Given the description of an element on the screen output the (x, y) to click on. 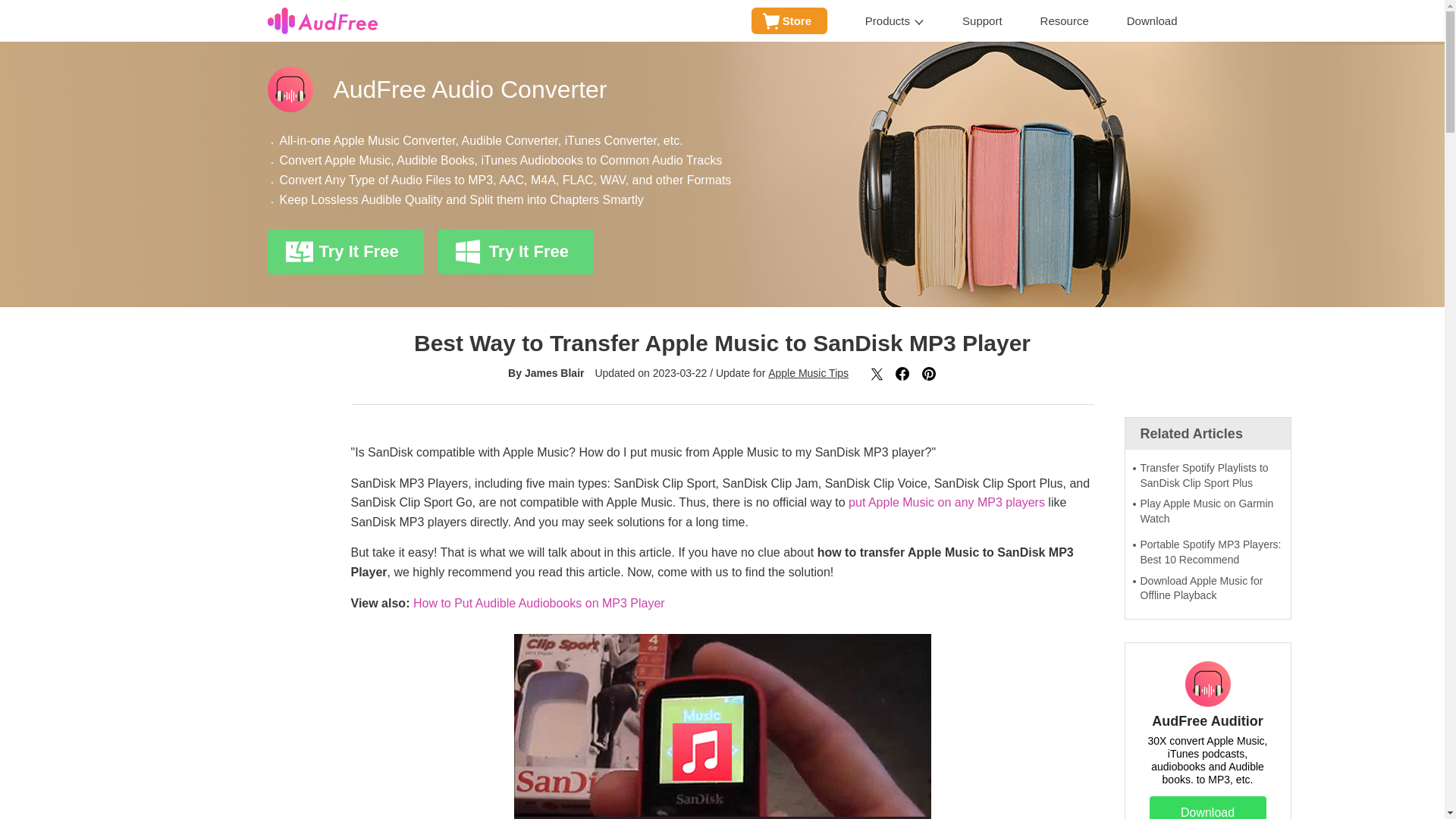
How to Put Audible Audiobooks on MP3 Player (539, 603)
Resource (1065, 20)
Products (894, 20)
AudFree Audio Converter (721, 89)
Apple Music Tips (808, 372)
Transfer Spotify Playlists to SanDisk Clip Sport Plus (1207, 475)
Download (1152, 20)
Try It Free (344, 251)
Support (982, 20)
Store (789, 20)
